Given the description of an element on the screen output the (x, y) to click on. 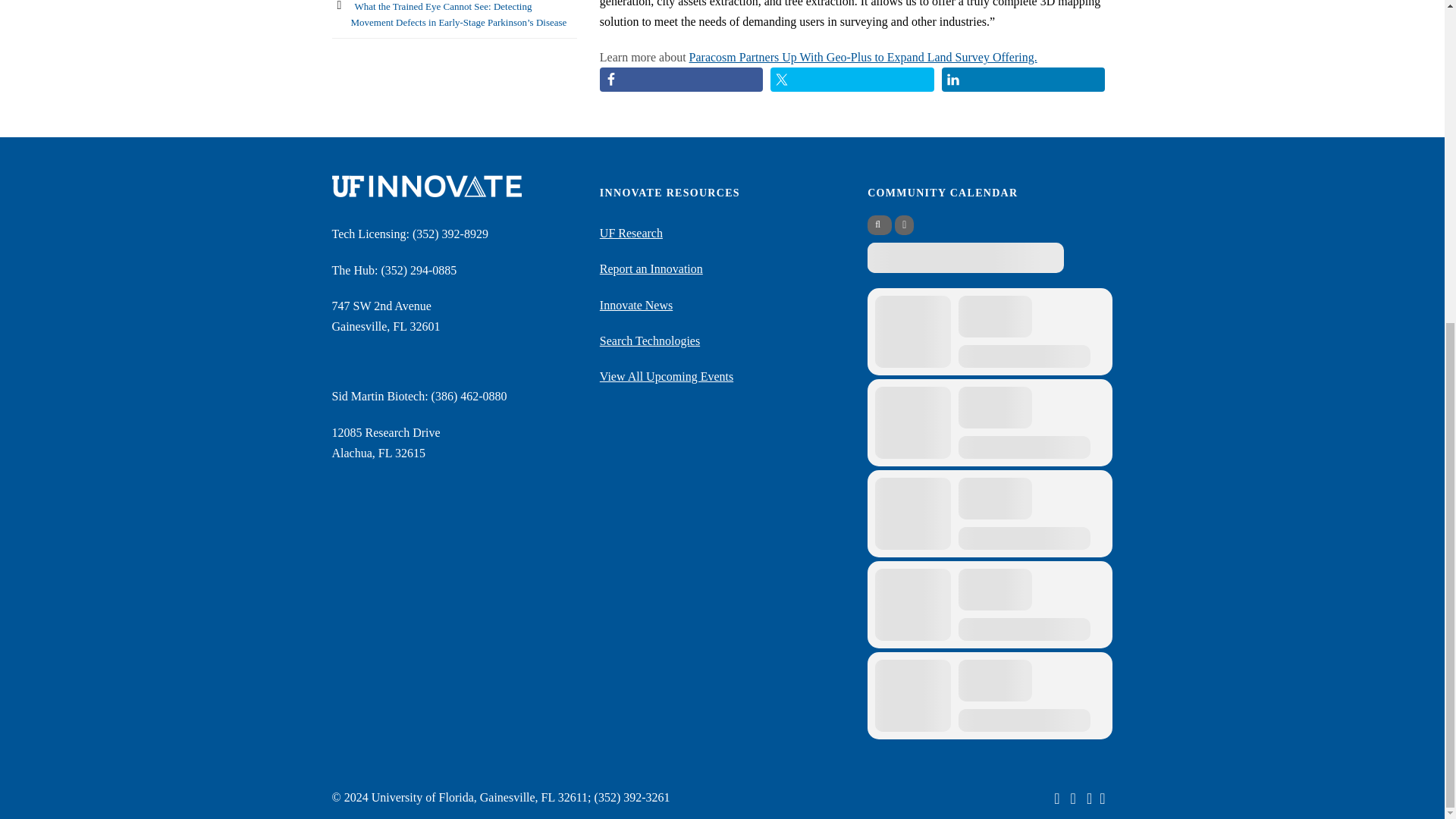
Share on Facebook (680, 79)
Share on Twitter (852, 79)
Share on LinkedIn (1023, 79)
